Given the description of an element on the screen output the (x, y) to click on. 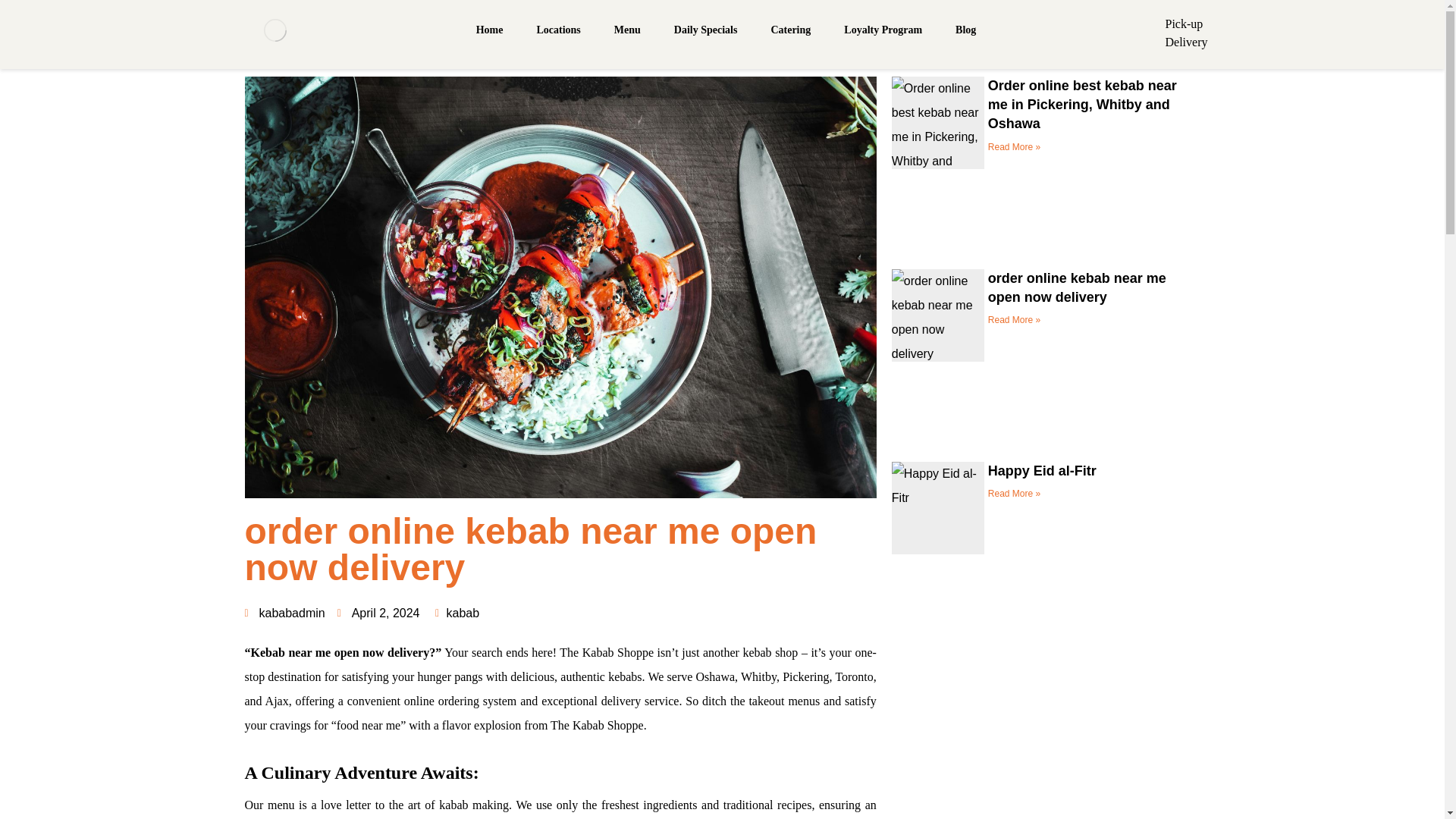
April 2, 2024 (378, 613)
Daily Specials (705, 30)
Locations (557, 30)
order online kebab near me open now delivery (1077, 287)
Blog (965, 30)
Catering (790, 30)
Menu (627, 30)
Loyalty Program (882, 30)
kabab (463, 612)
